Given the description of an element on the screen output the (x, y) to click on. 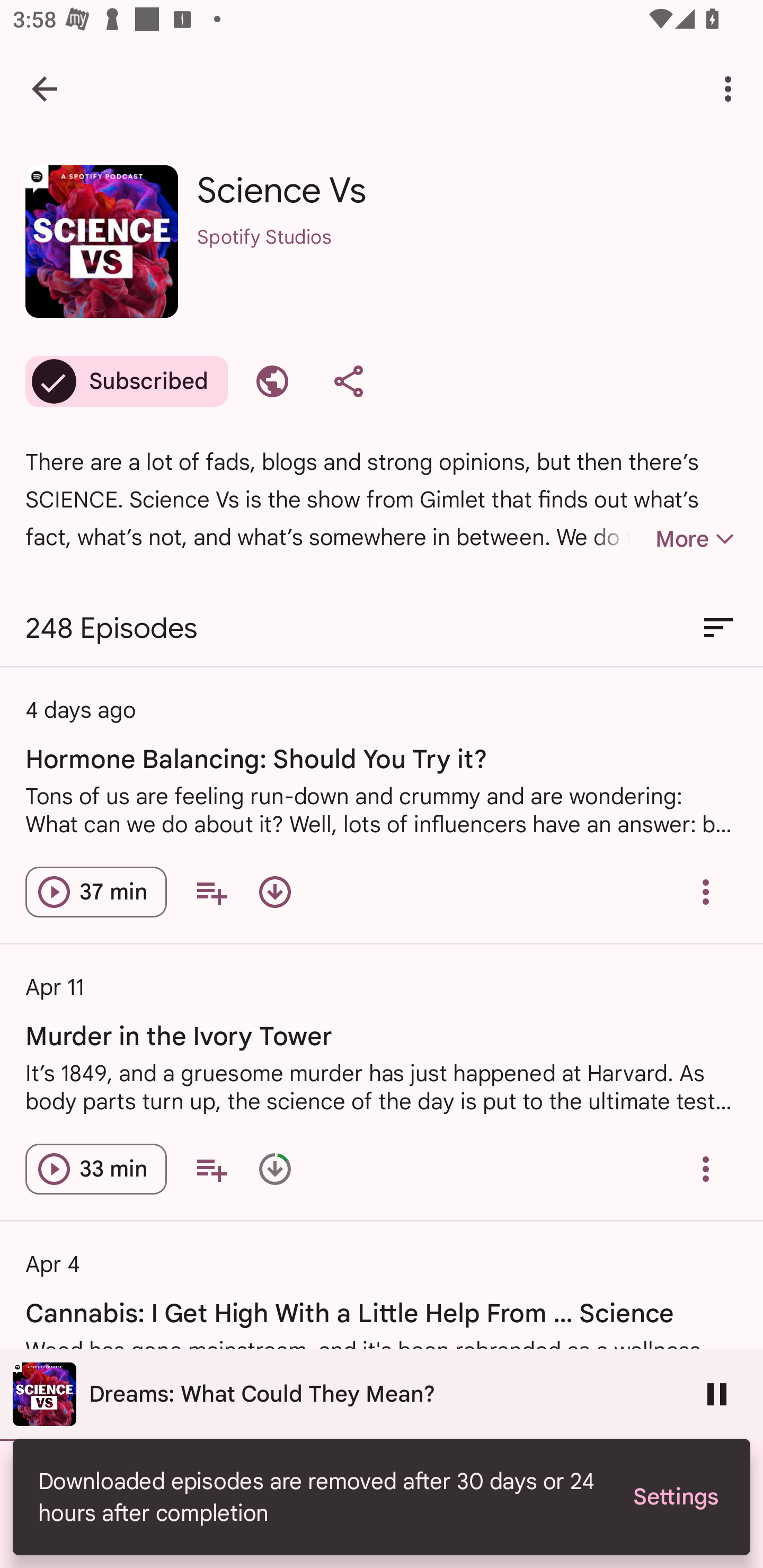
Navigate up (44, 88)
More options (731, 88)
Spotify Studios (466, 260)
Subscribed (126, 381)
Visit website (272, 381)
Share (348, 381)
More (664, 539)
Sort (718, 627)
Add to your queue (211, 891)
Download episode (274, 891)
Overflow menu (705, 891)
Play episode Murder in the Ivory Tower 33 min (96, 1168)
Add to your queue (211, 1168)
Episode downloaded - double tap for options 0.0 (274, 1168)
Overflow menu (705, 1168)
Pause (717, 1394)
Settings (675, 1496)
